Given the description of an element on the screen output the (x, y) to click on. 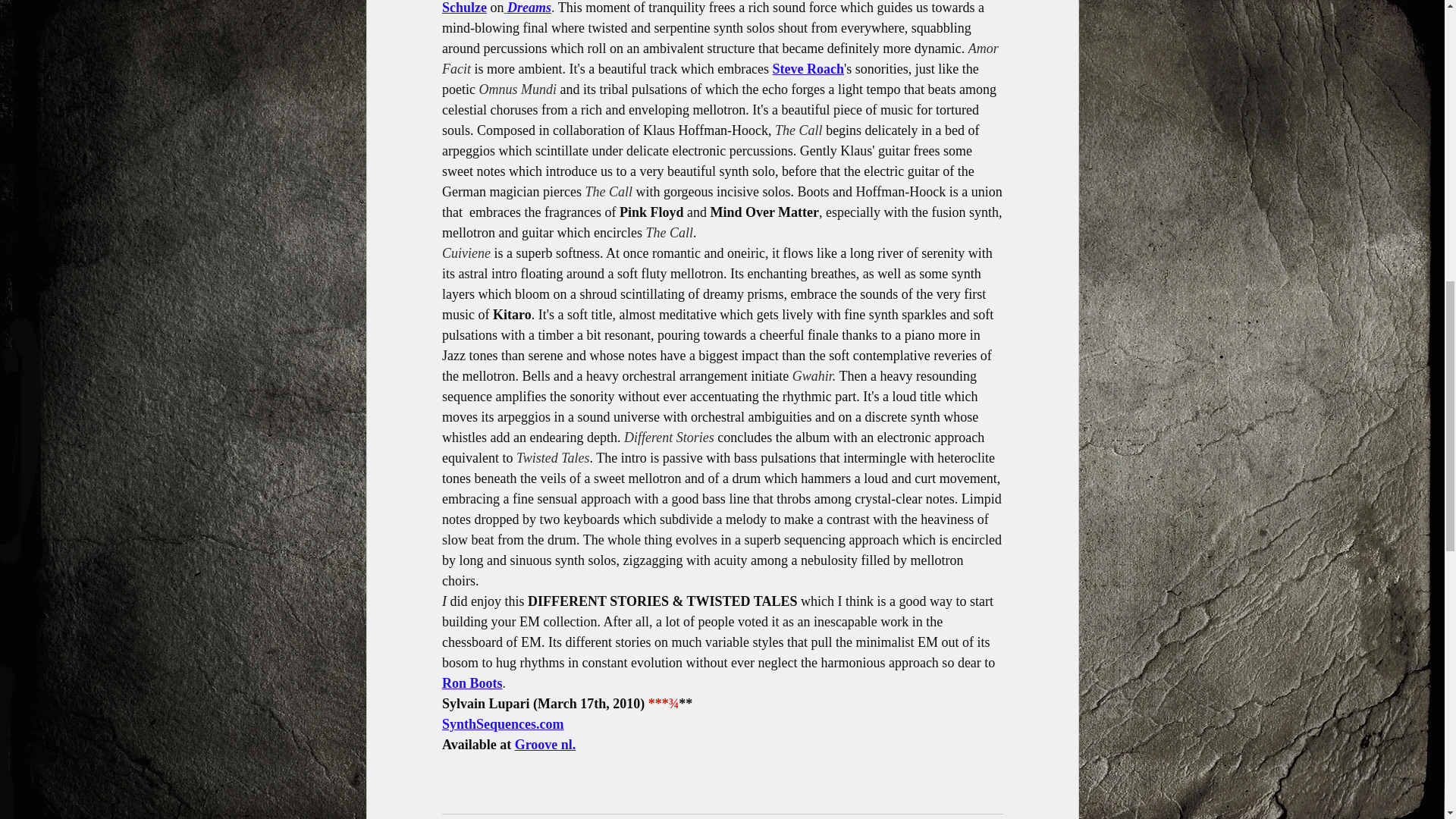
Dreams (528, 7)
Groove nl. (544, 744)
Steve Roach (807, 68)
Ron Boots (471, 683)
Klaus Schulze (719, 7)
SynthSequences.com (502, 724)
